Given the description of an element on the screen output the (x, y) to click on. 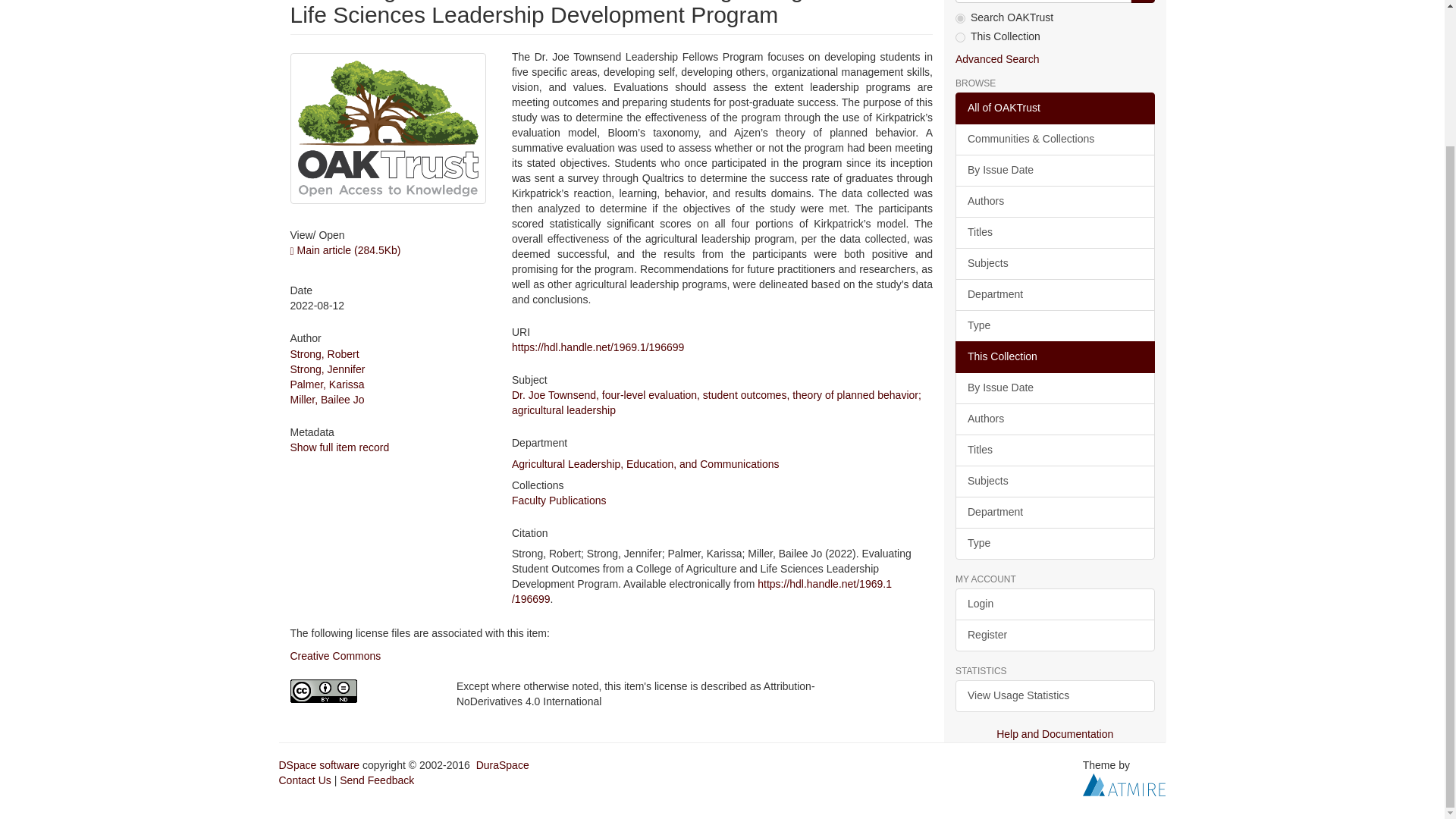
Atmire NV (1124, 784)
Go (1142, 1)
Palmer, Karissa (326, 384)
Attribution-NoDerivatives 4.0 International (360, 690)
Agricultural Leadership, Education, and Communications (645, 463)
Advanced Search (997, 59)
Strong, Robert (323, 354)
Strong, Jennifer (327, 369)
Faculty Publications (559, 500)
